Given the description of an element on the screen output the (x, y) to click on. 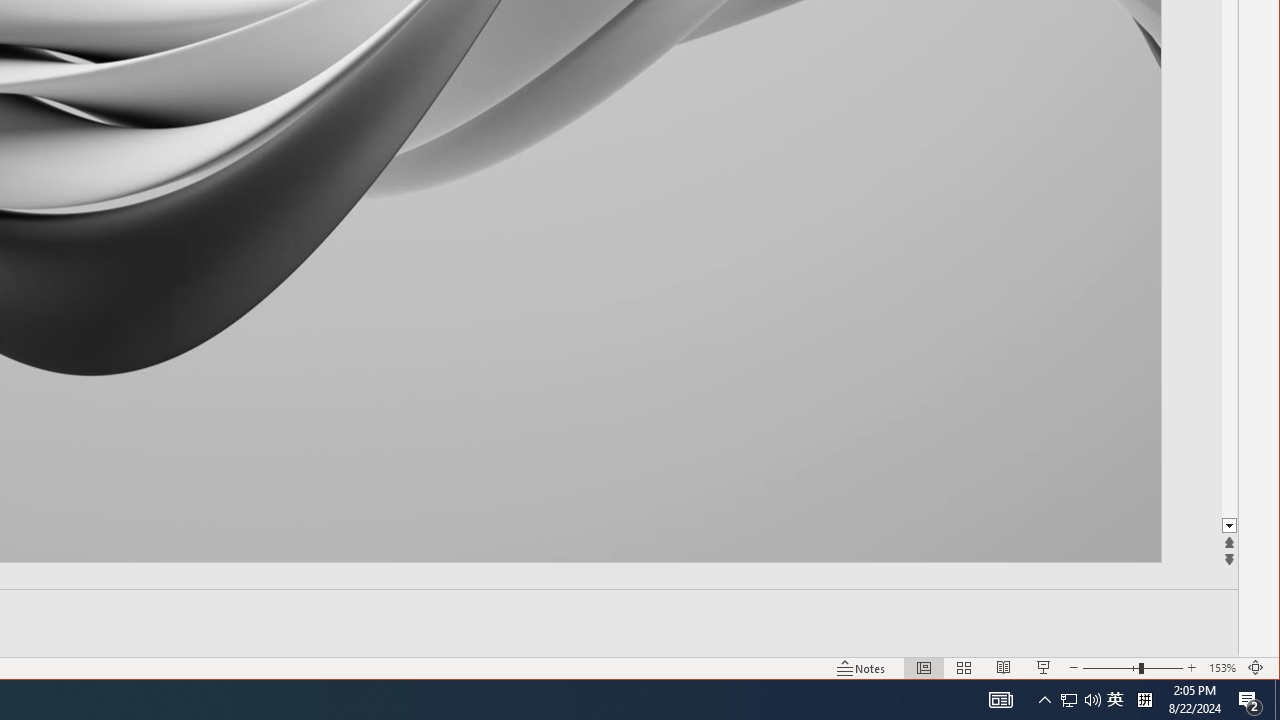
Zoom 153% (1222, 668)
